Given the description of an element on the screen output the (x, y) to click on. 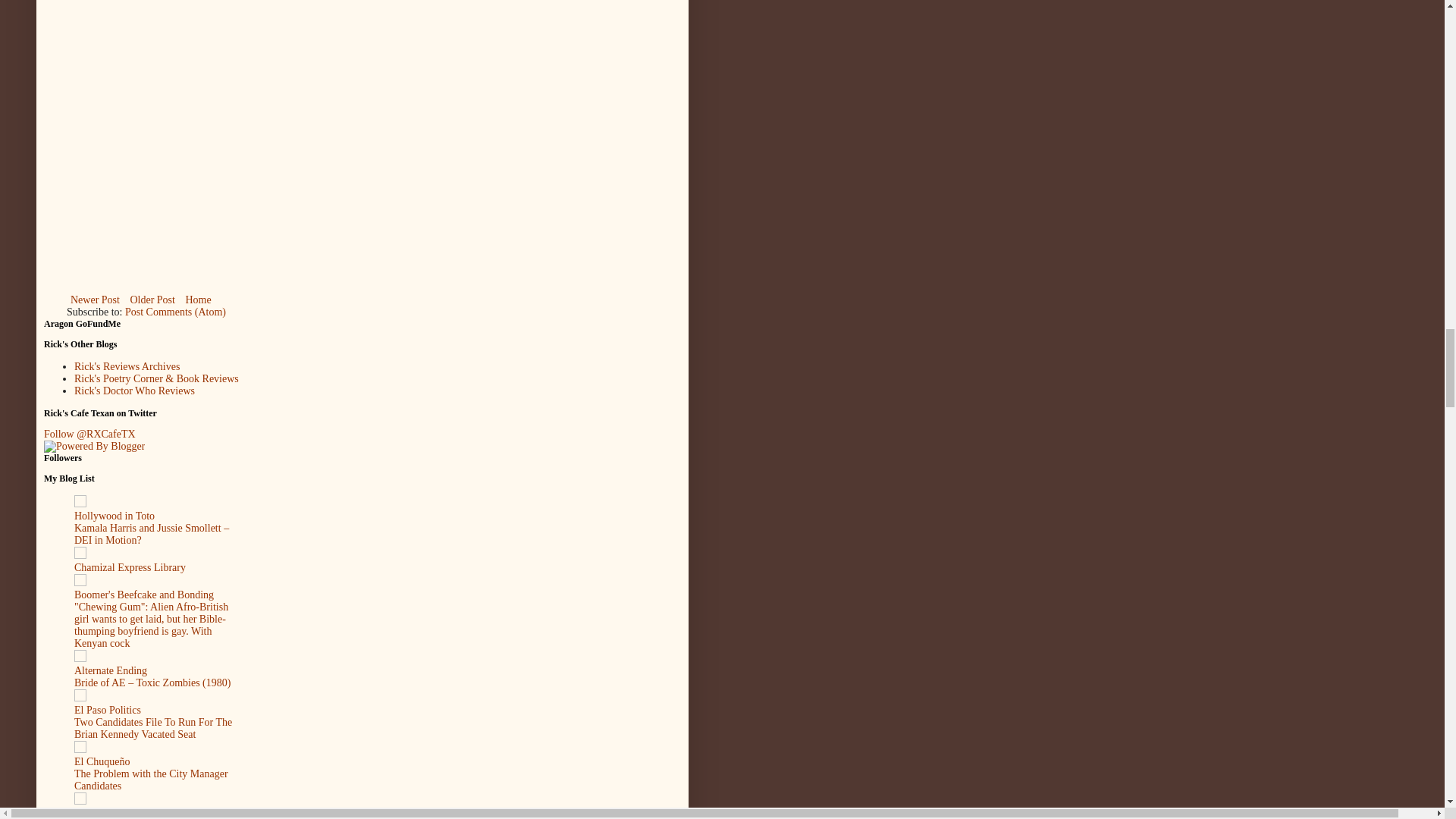
Newer Post (94, 299)
Chamizal Express Library (130, 567)
Newer Post (94, 299)
Older Post (152, 299)
Older Post (152, 299)
Rick's Reviews Archives (126, 366)
Hollywood in Toto (114, 515)
Boomer's Beefcake and Bonding (144, 594)
Rick's Doctor Who Reviews (134, 390)
Home (197, 299)
